Given the description of an element on the screen output the (x, y) to click on. 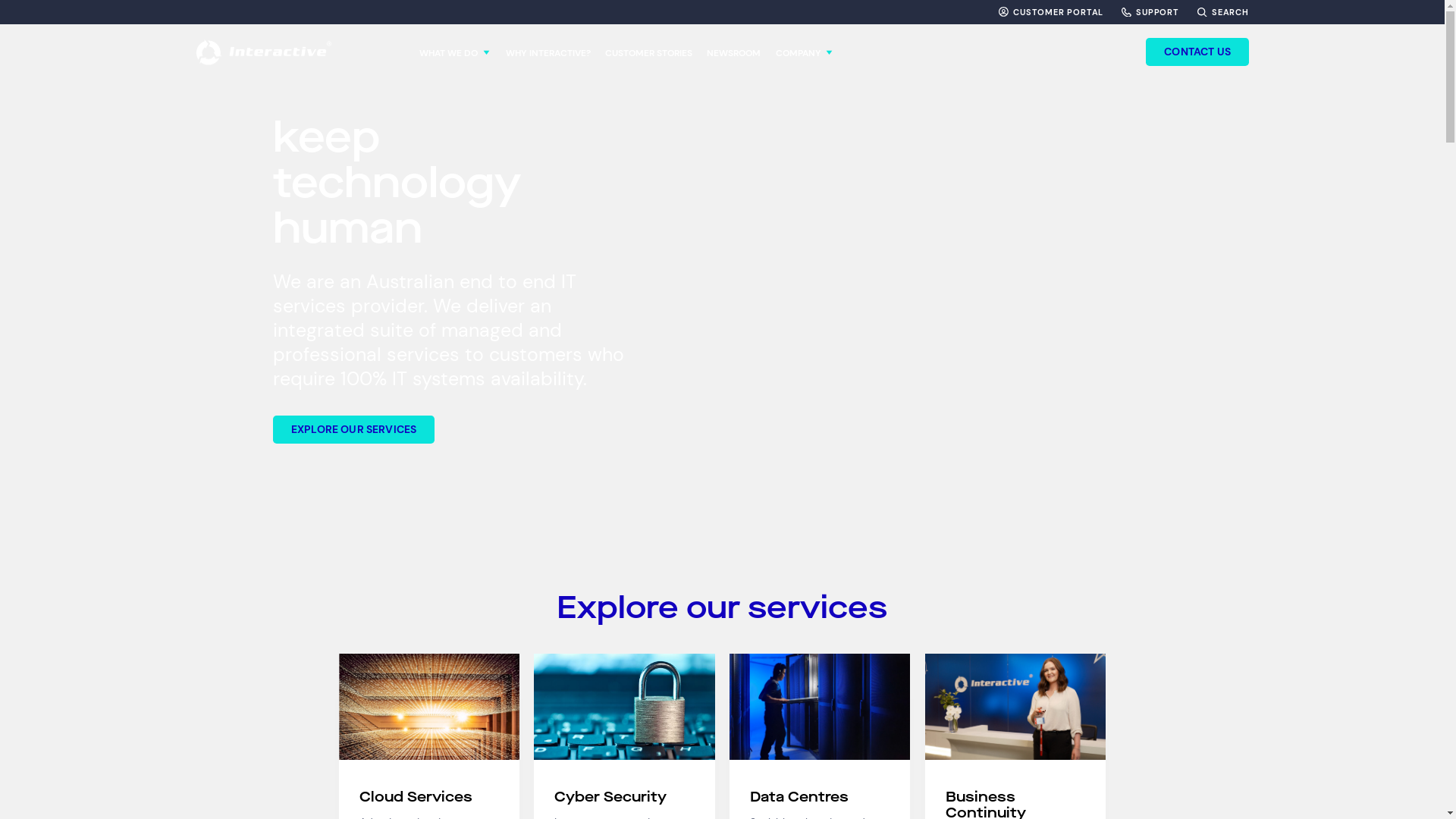
CUSTOMER STORIES Element type: text (648, 51)
CONTACT US Element type: text (1196, 51)
WHY INTERACTIVE? Element type: text (547, 51)
COMPANY Element type: text (804, 51)
Cloud Services Element type: text (428, 797)
Interactive Element type: hover (263, 51)
Cyber Security Element type: text (623, 797)
EXPLORE OUR SERVICES Element type: text (353, 429)
NEWSROOM Element type: text (733, 51)
WHAT WE DO Element type: text (455, 51)
CUSTOMER PORTAL Element type: text (1050, 12)
Data Centres Element type: text (819, 797)
